Given the description of an element on the screen output the (x, y) to click on. 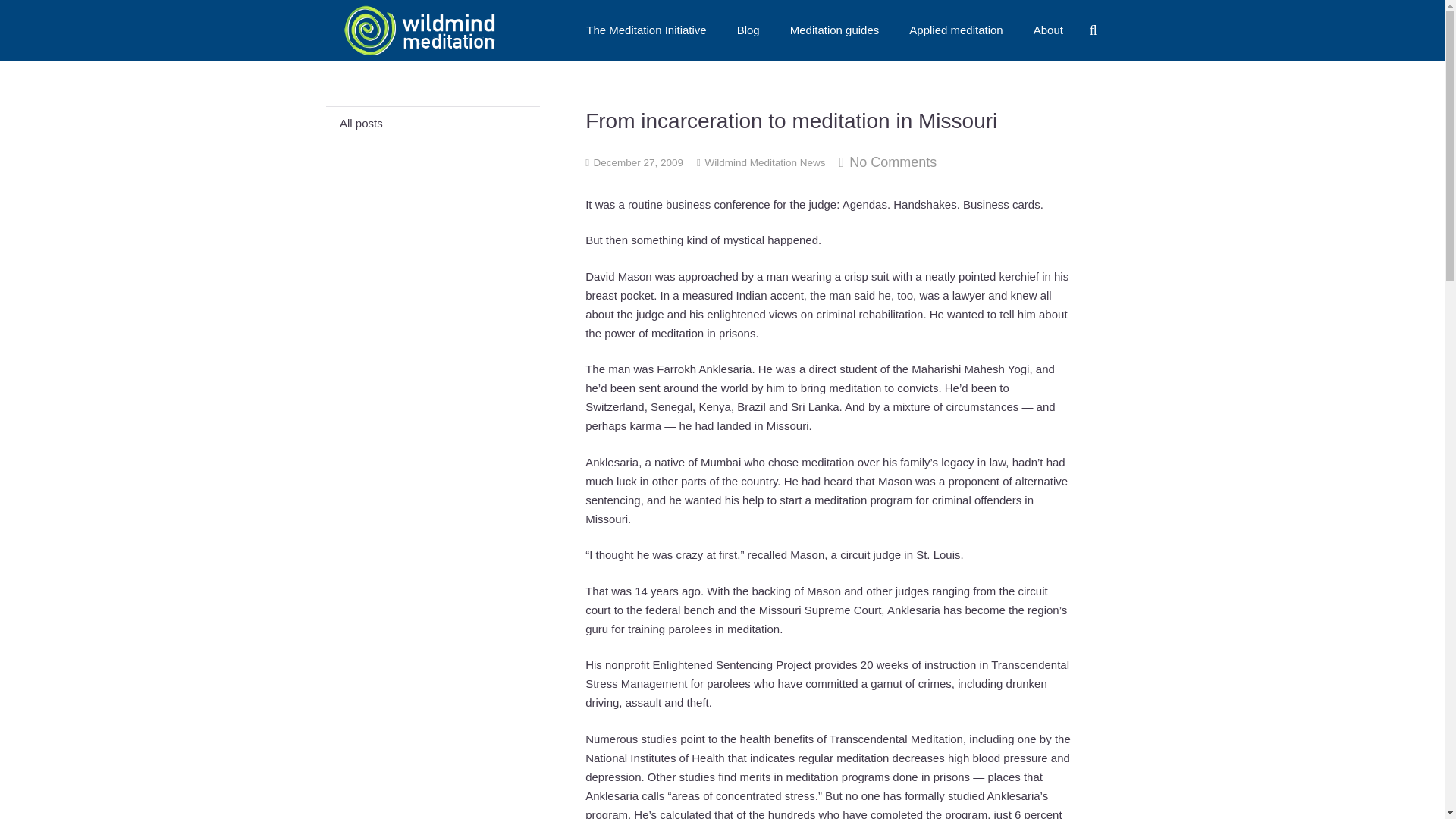
No Comments (892, 161)
Meditation guides (834, 30)
The Meditation Initiative (645, 30)
All posts (433, 122)
